Given the description of an element on the screen output the (x, y) to click on. 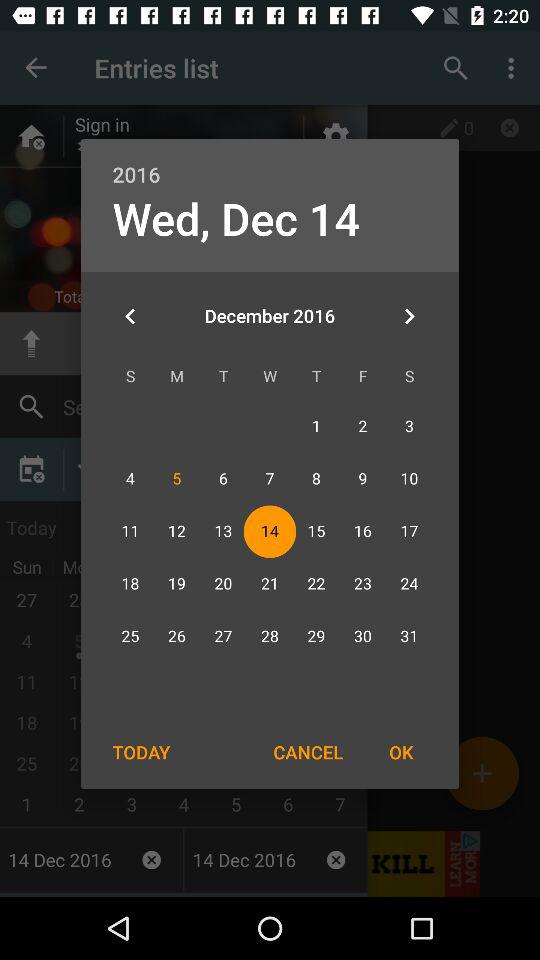
launch icon to the left of the cancel item (141, 751)
